Given the description of an element on the screen output the (x, y) to click on. 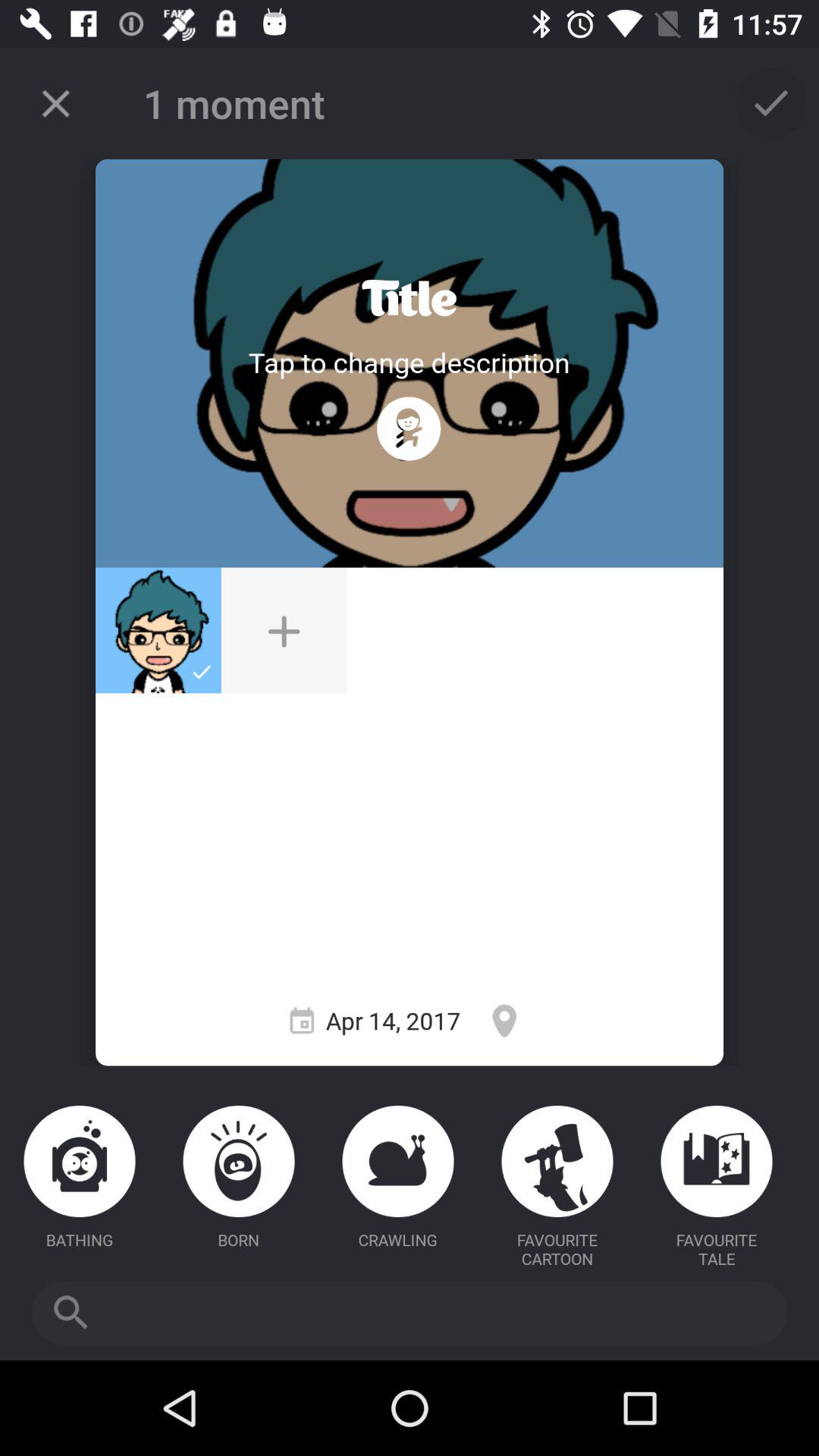
additional photo (283, 630)
